Given the description of an element on the screen output the (x, y) to click on. 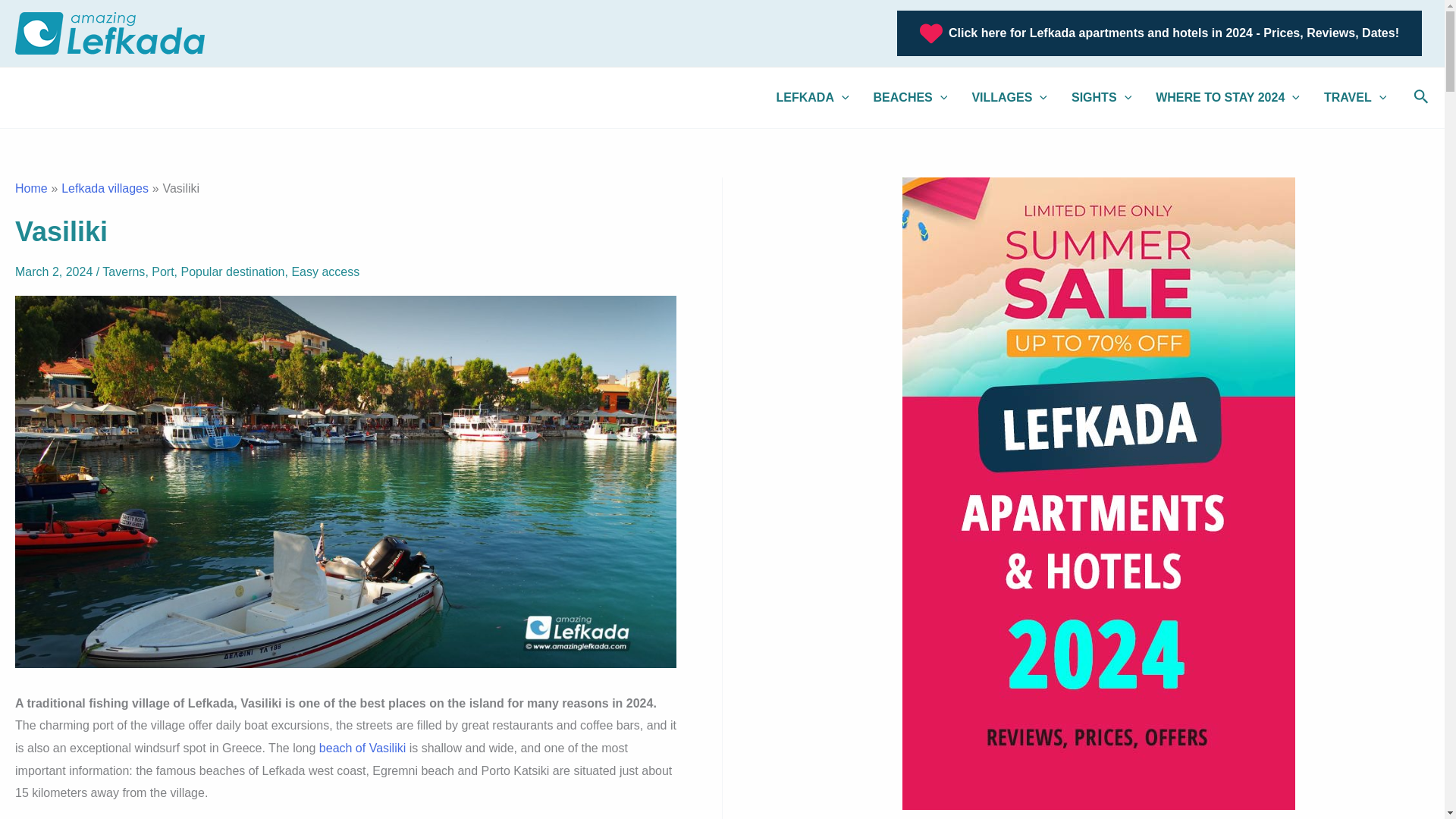
LEFKADA (812, 97)
BEACHES (910, 97)
